Given the description of an element on the screen output the (x, y) to click on. 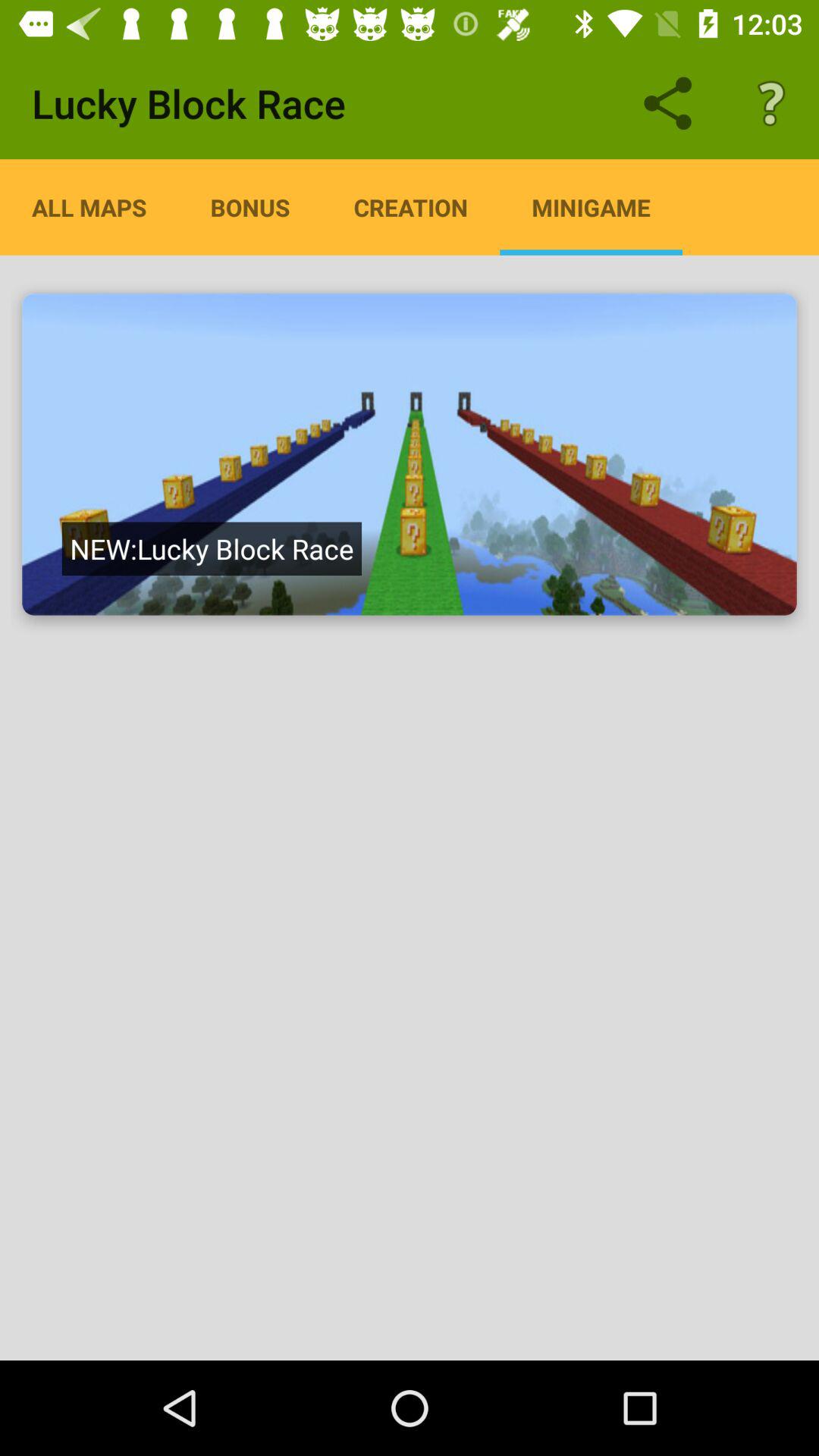
press the item below all maps icon (211, 548)
